Given the description of an element on the screen output the (x, y) to click on. 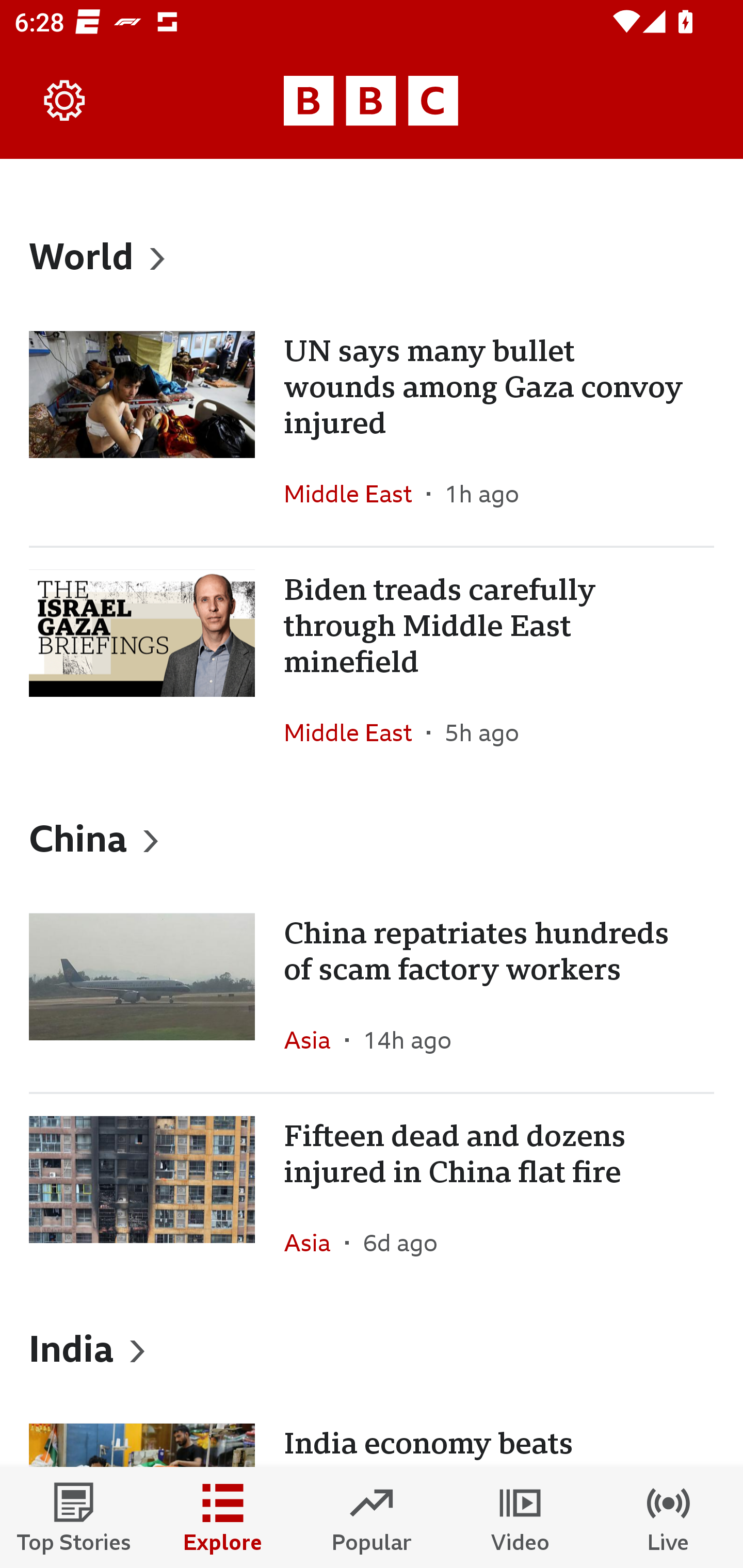
Settings (64, 100)
World, Heading World    (371, 255)
Middle East In the section Middle East (354, 493)
Middle East In the section Middle East (354, 732)
China, Heading China    (371, 837)
Asia In the section Asia (314, 1039)
Asia In the section Asia (314, 1242)
India, Heading India    (371, 1348)
Top Stories (74, 1517)
Popular (371, 1517)
Video (519, 1517)
Live (668, 1517)
